Given the description of an element on the screen output the (x, y) to click on. 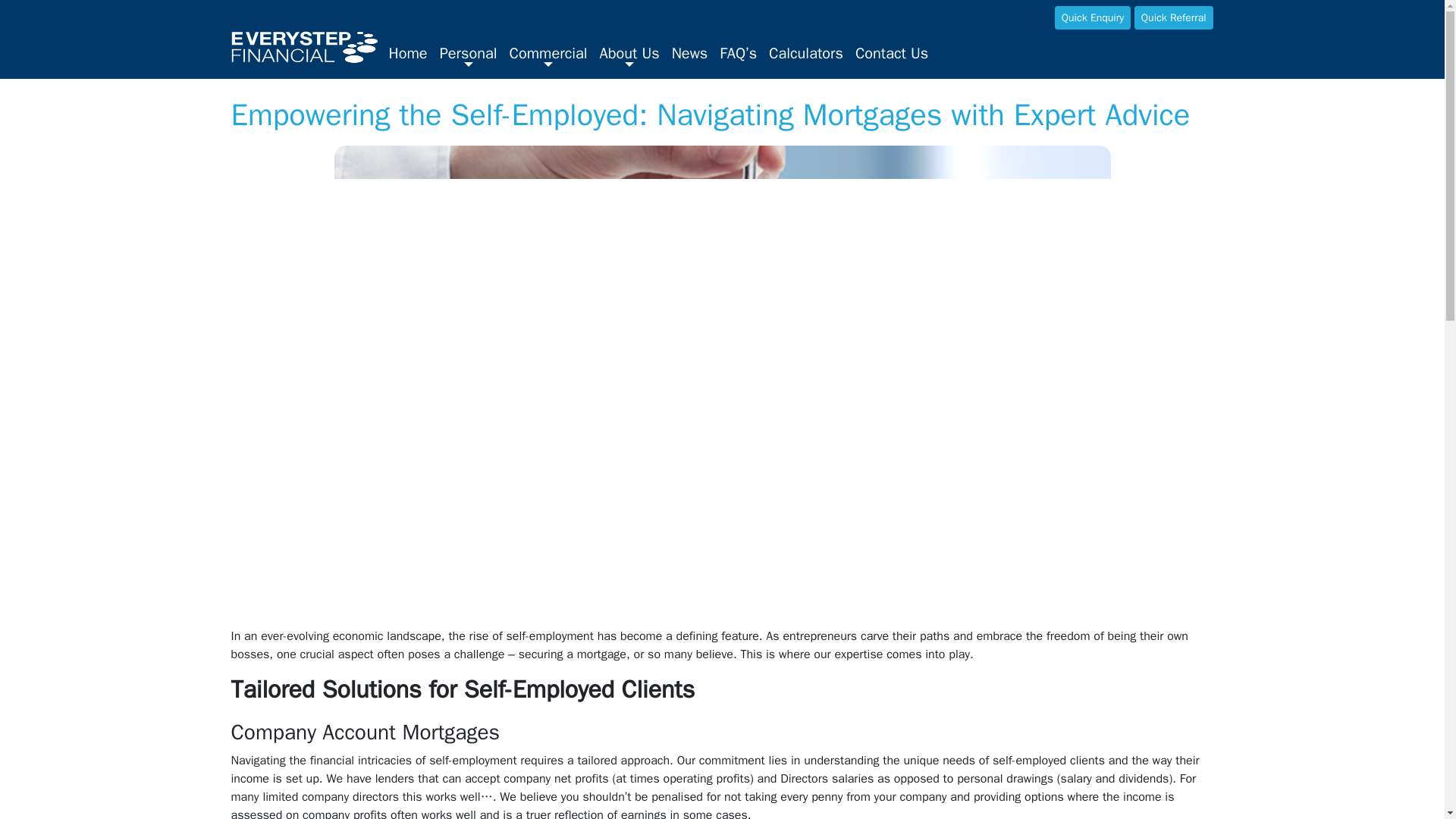
Quick Referral (1173, 17)
Personal (468, 54)
Commercial (548, 54)
Home (406, 53)
Quick Enquiry (1092, 17)
